Given the description of an element on the screen output the (x, y) to click on. 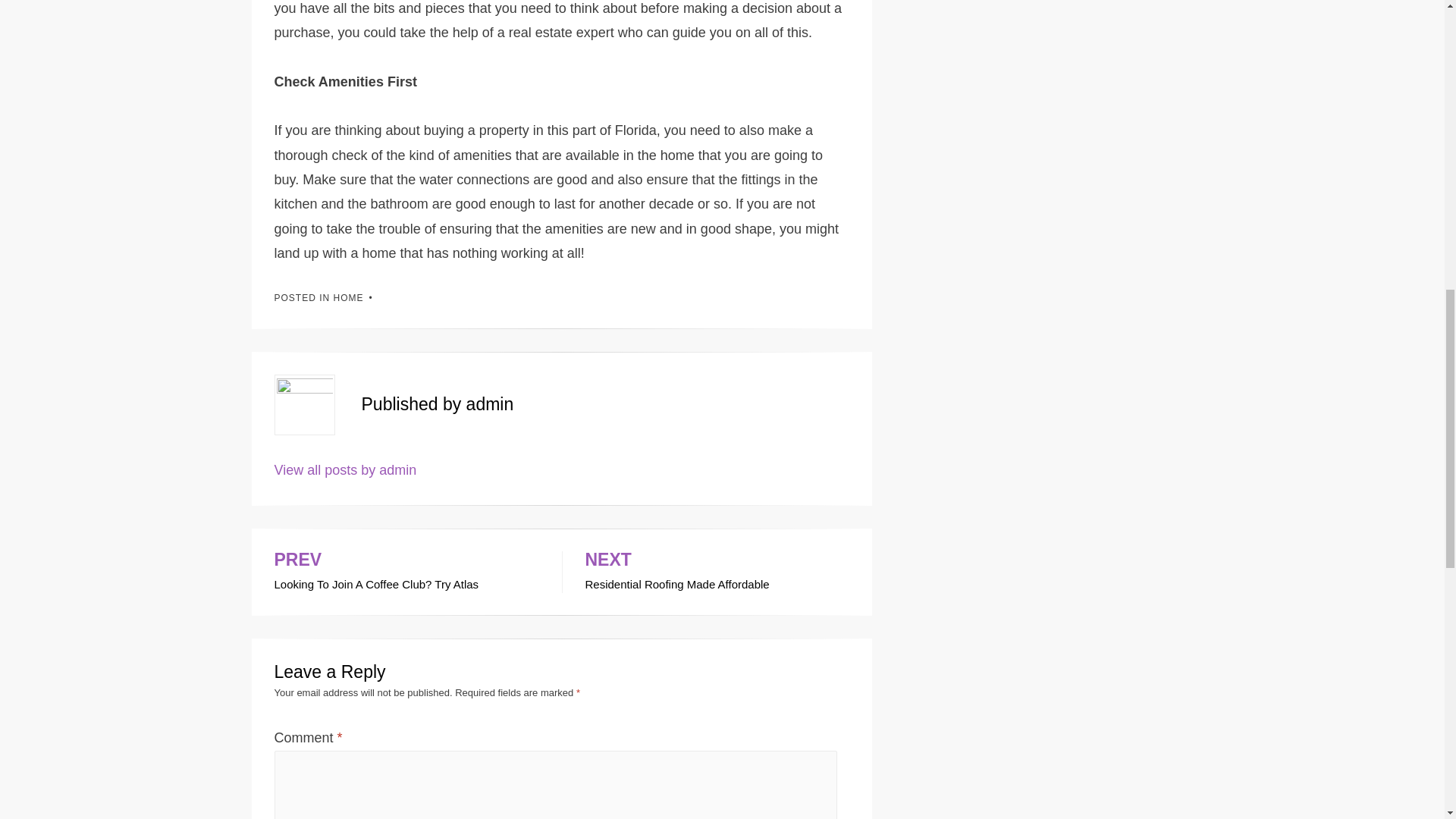
View all posts by admin (406, 572)
HOME (345, 469)
